Given the description of an element on the screen output the (x, y) to click on. 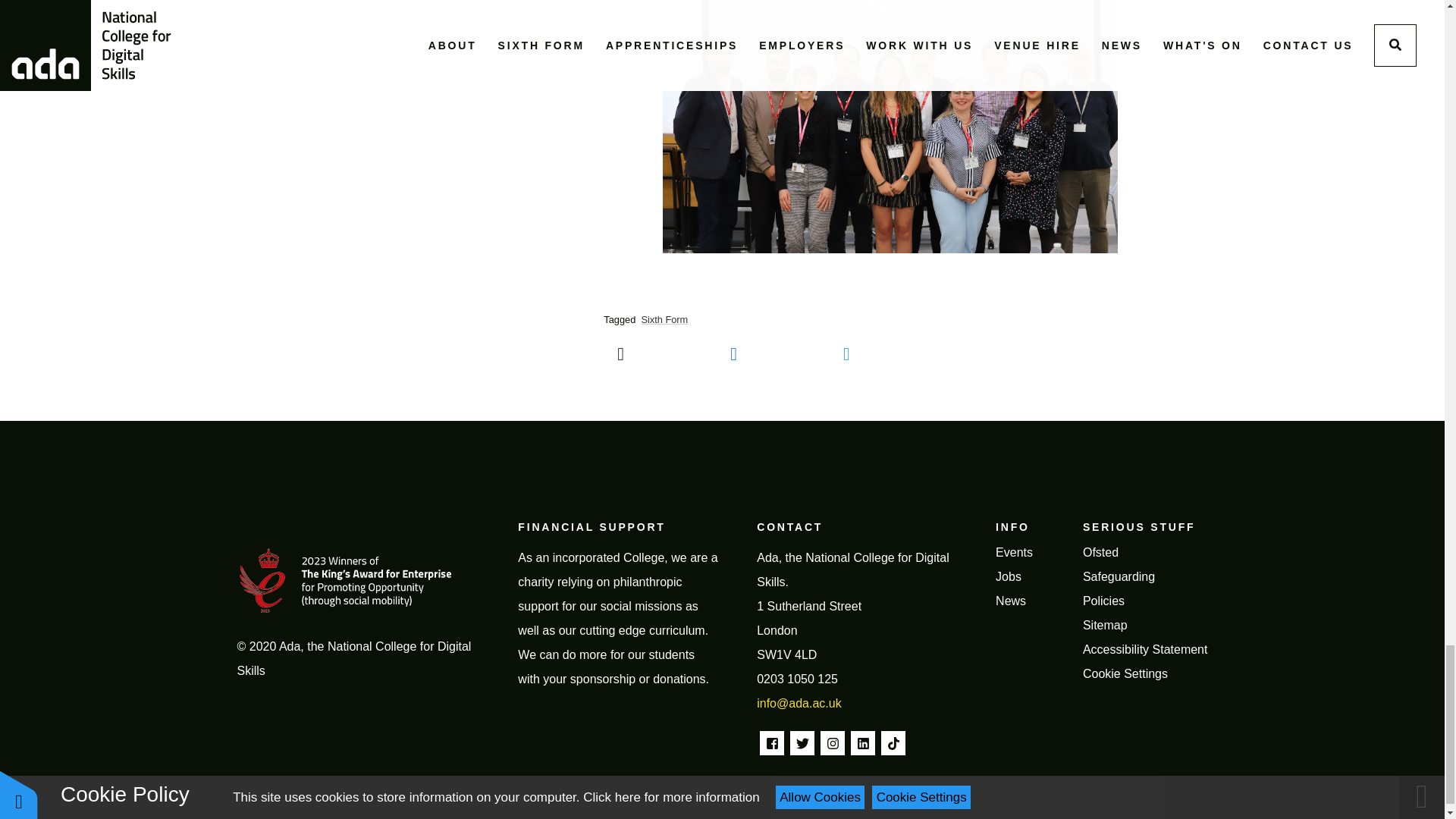
Cookie Settings (1125, 673)
